Given the description of an element on the screen output the (x, y) to click on. 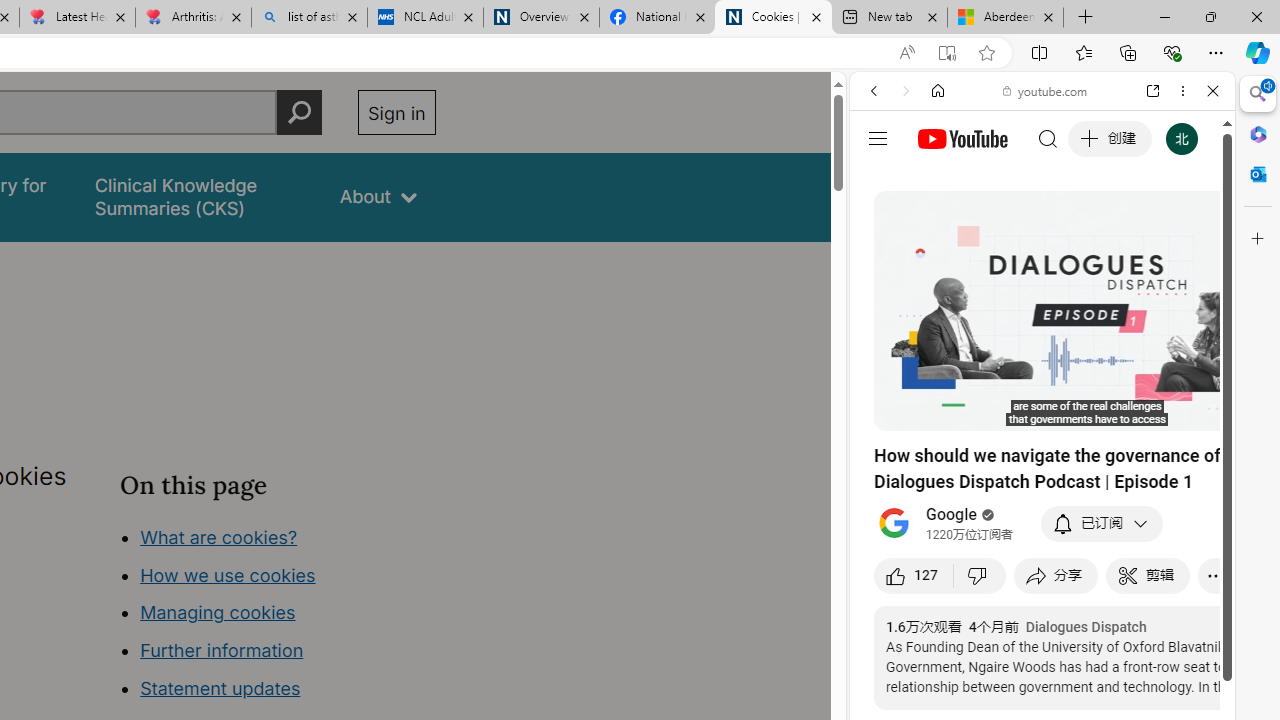
Statement updates (219, 688)
Further information (221, 650)
Dialogues Dispatch (1085, 627)
What are cookies? (218, 536)
